Given the description of an element on the screen output the (x, y) to click on. 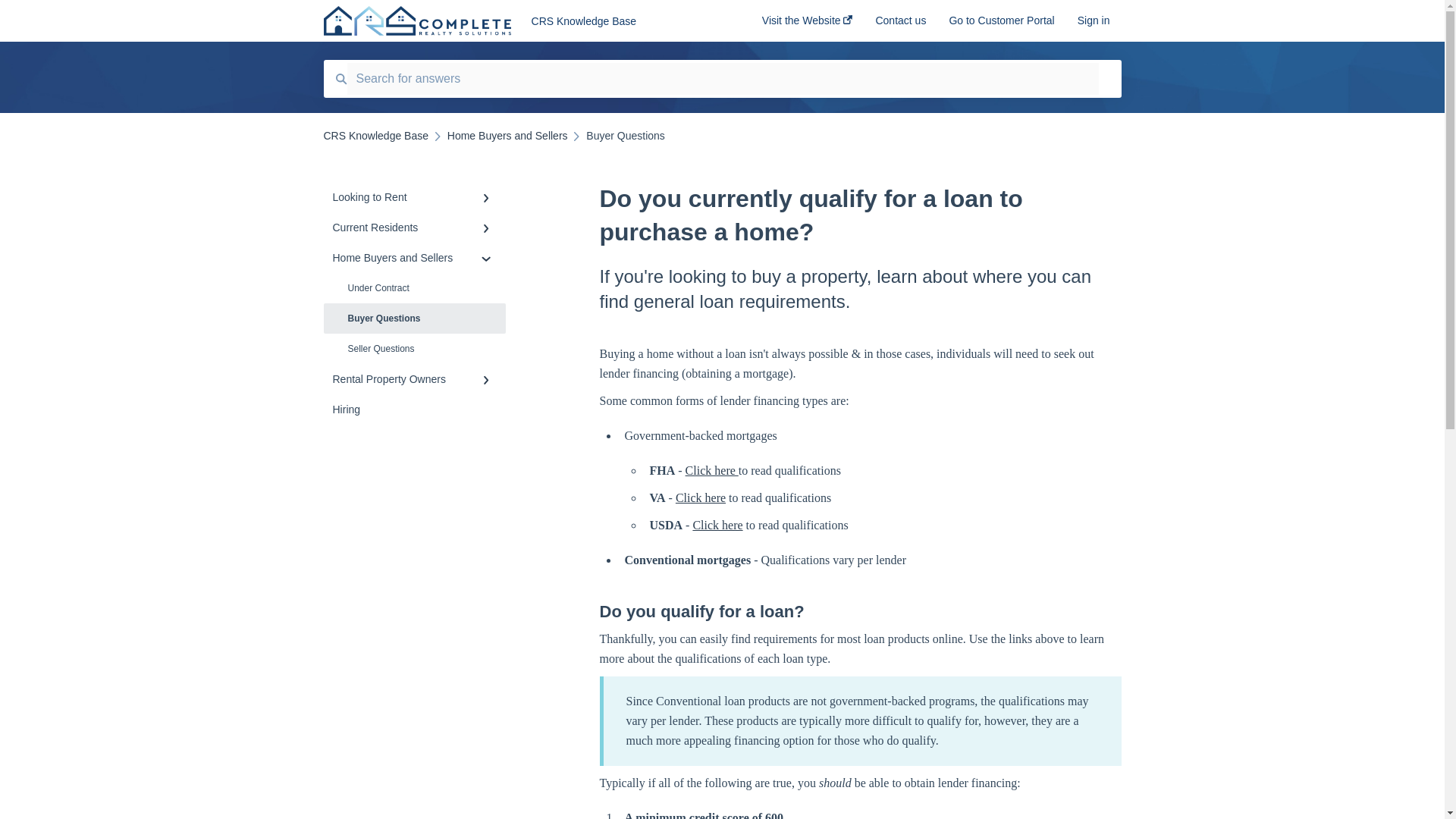
CRS Knowledge Base (375, 135)
Looking to Rent (414, 196)
Home Buyers and Sellers (506, 135)
CRS Knowledge Base (623, 21)
Contact us (900, 25)
Visit the Website (807, 25)
Go to Customer Portal (1001, 25)
